Given the description of an element on the screen output the (x, y) to click on. 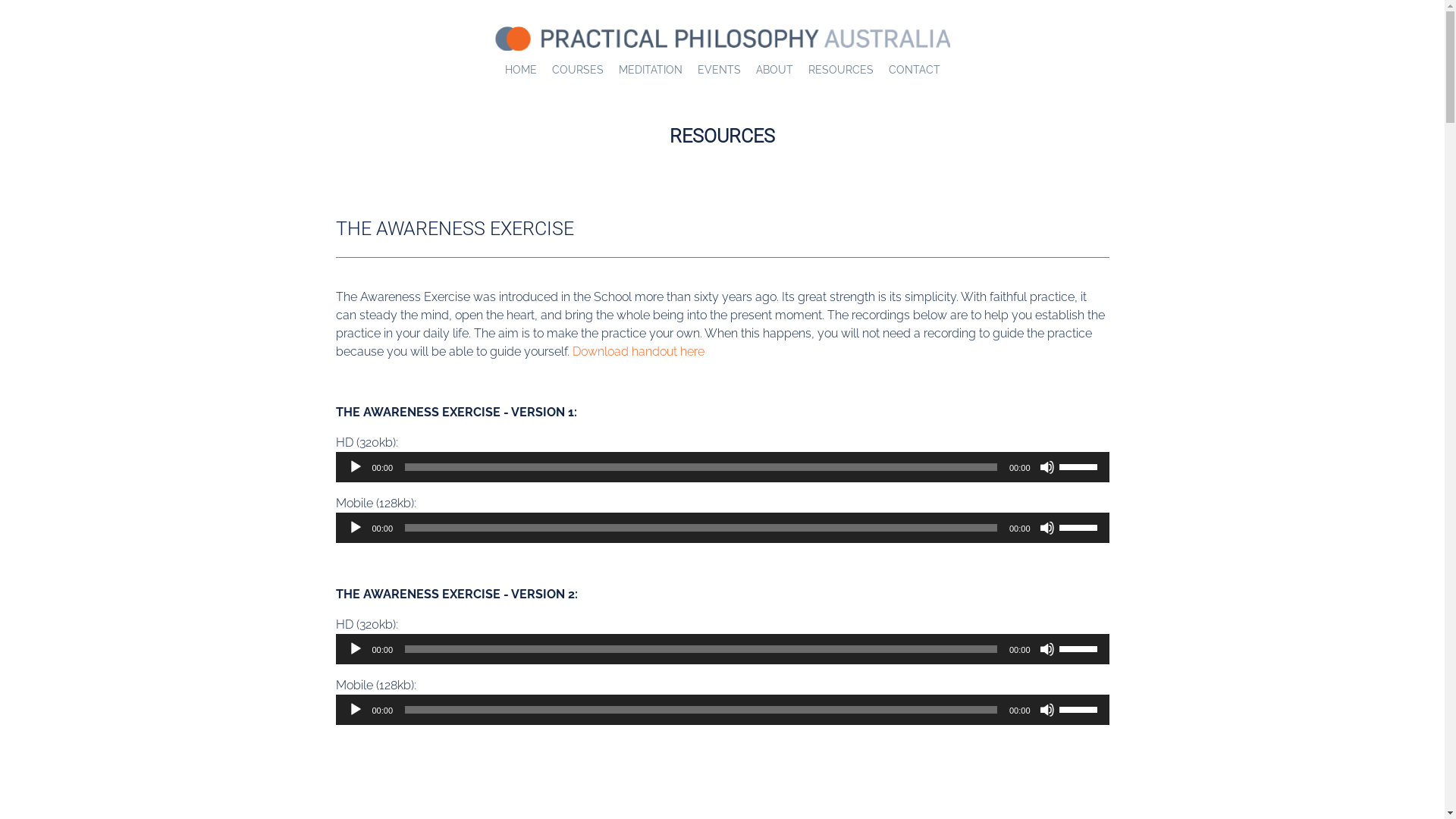
Mute Element type: hover (1046, 648)
CONTACT Element type: text (914, 69)
COURSES Element type: text (577, 69)
Use Up/Down Arrow keys to increase or decrease volume. Element type: text (1079, 647)
EVENTS Element type: text (719, 69)
Mute Element type: hover (1046, 466)
Use Up/Down Arrow keys to increase or decrease volume. Element type: text (1079, 525)
Play Element type: hover (354, 709)
Use Up/Down Arrow keys to increase or decrease volume. Element type: text (1079, 465)
ABOUT Element type: text (773, 69)
MEDITATION Element type: text (650, 69)
Use Up/Down Arrow keys to increase or decrease volume. Element type: text (1079, 707)
RESOURCES Element type: text (840, 69)
Play Element type: hover (354, 527)
Play Element type: hover (354, 648)
Play Element type: hover (354, 466)
Mute Element type: hover (1046, 709)
Logo_march2020 Element type: hover (721, 38)
Mute Element type: hover (1046, 527)
HOME Element type: text (520, 69)
Download handout here Element type: text (637, 351)
